Given the description of an element on the screen output the (x, y) to click on. 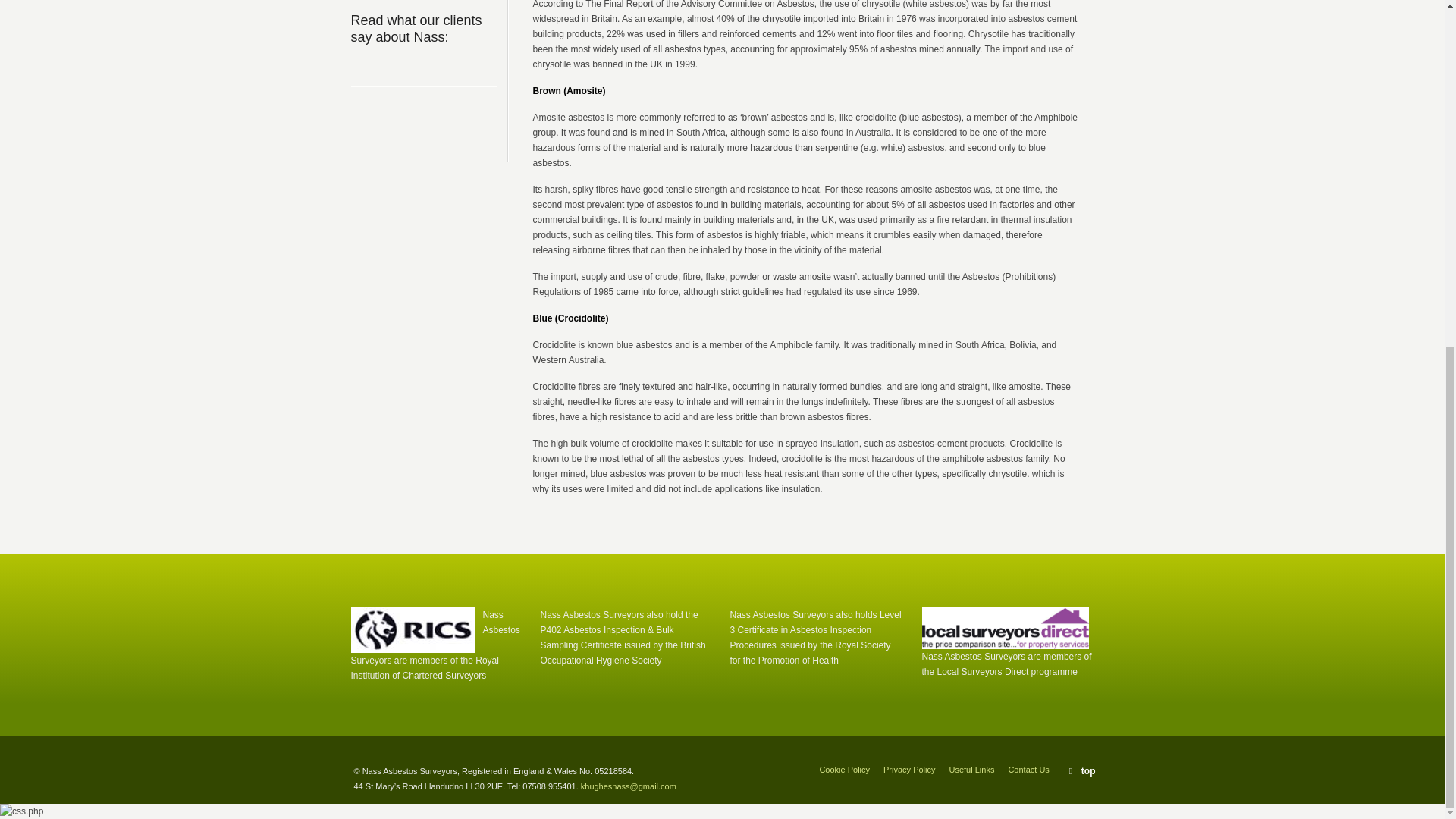
Useful Links (971, 768)
top (1082, 769)
Cookie Policy (843, 768)
Contact Us (1027, 768)
Privacy Policy (908, 768)
